Given the description of an element on the screen output the (x, y) to click on. 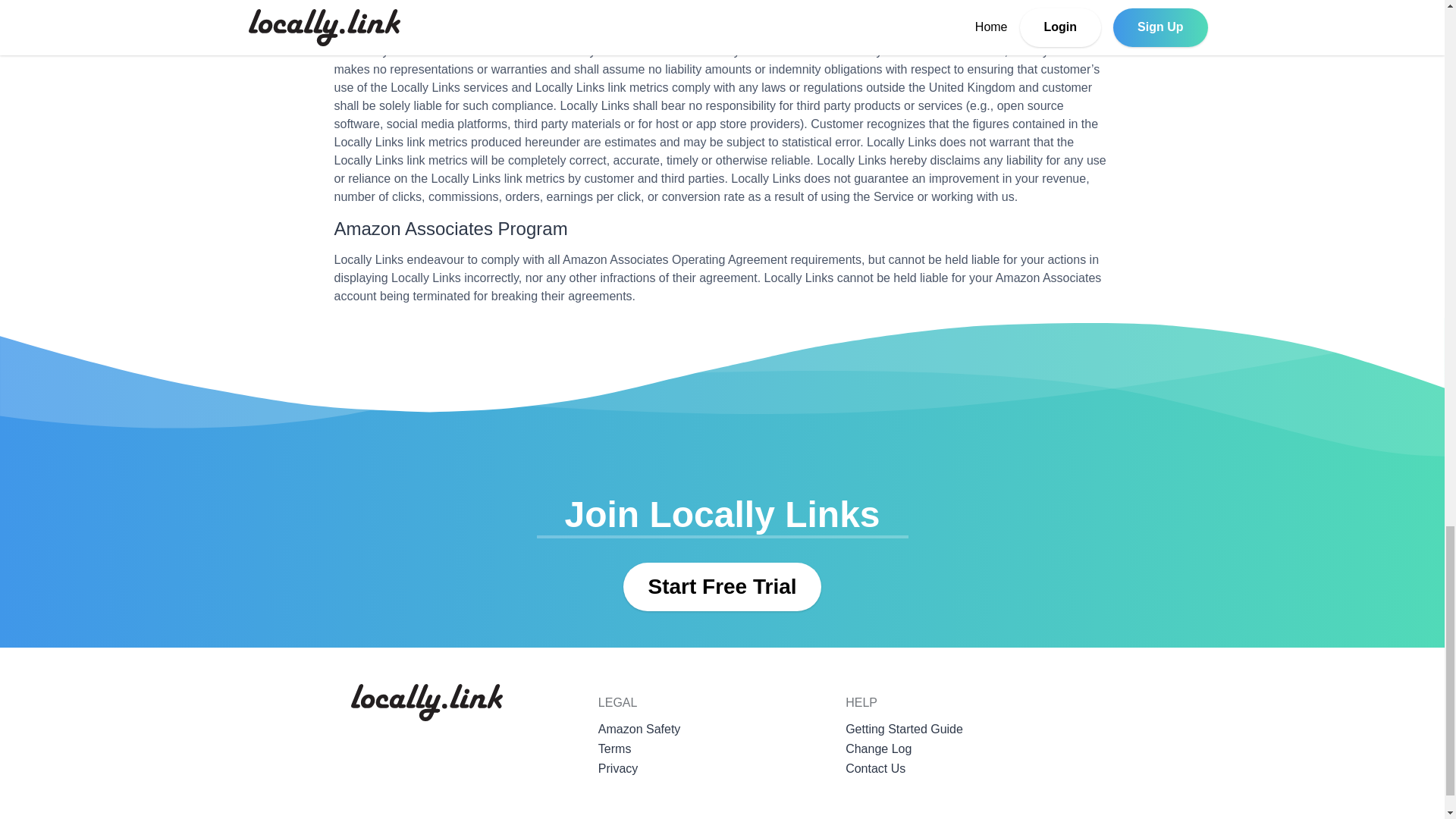
Change Log (969, 752)
Amazon Safety (721, 732)
Terms (721, 752)
Getting Started Guide (969, 732)
Start Free Trial (722, 586)
Contact Us (969, 772)
Privacy (721, 772)
